Given the description of an element on the screen output the (x, y) to click on. 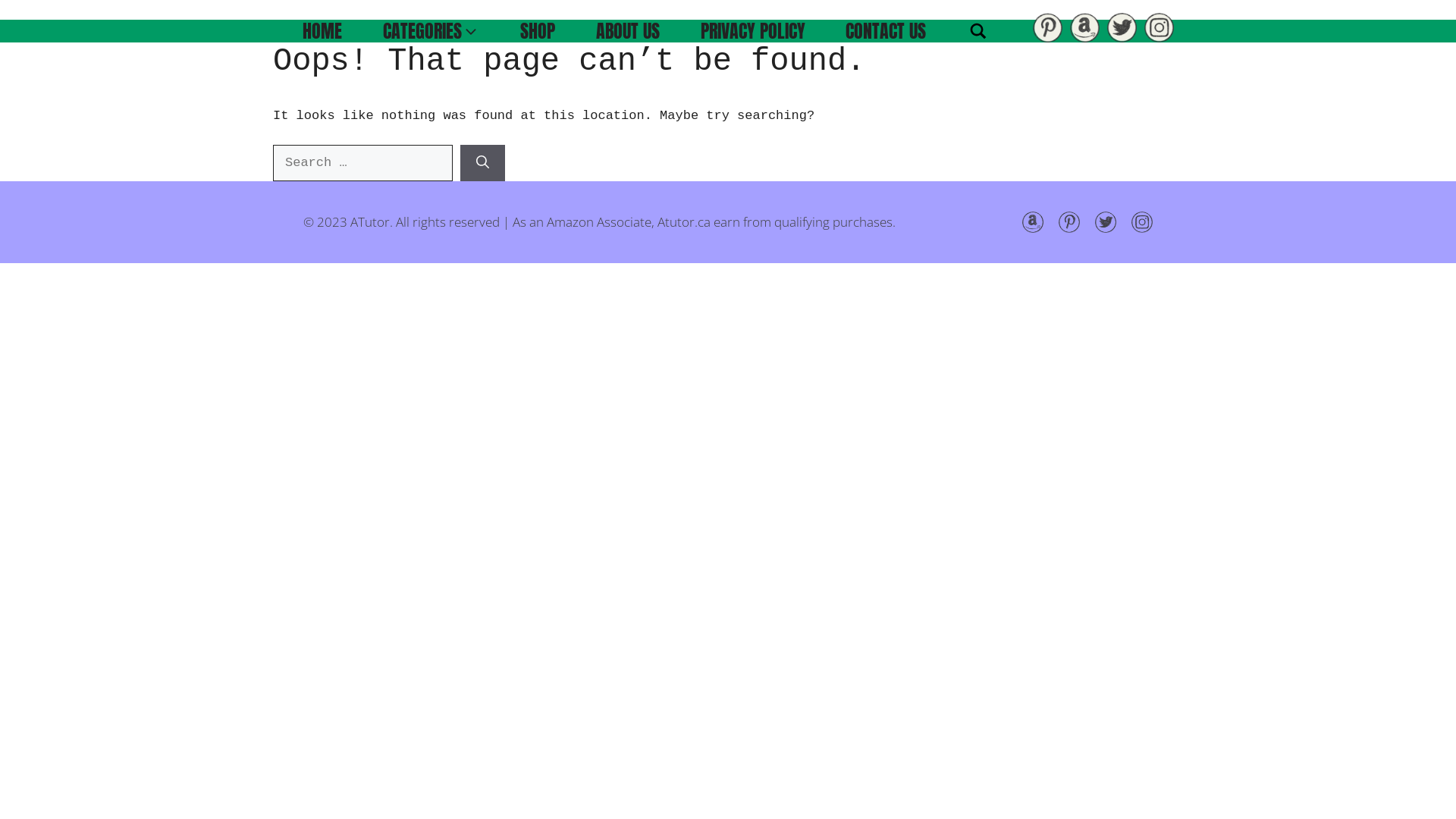
CONTACT US Element type: text (885, 30)
SHOP Element type: text (537, 30)
HOME Element type: text (322, 30)
ABOUT US Element type: text (627, 30)
Search for: Element type: hover (362, 162)
PRIVACY POLICY Element type: text (752, 30)
CATEGORIES Element type: text (431, 30)
